Given the description of an element on the screen output the (x, y) to click on. 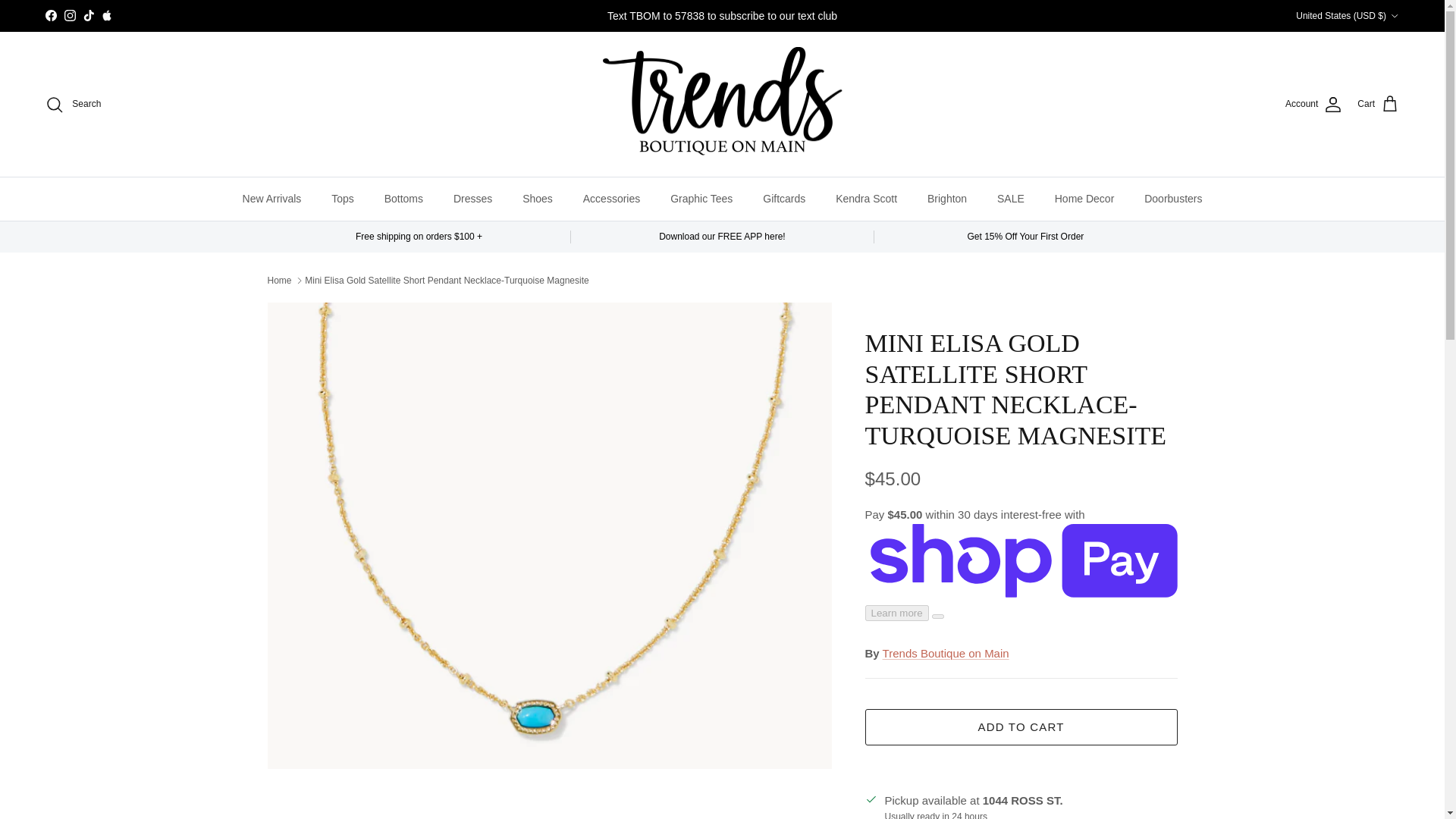
Trends Boutique on Main on Instagram (69, 15)
Trends Boutique on Main (721, 104)
Trends Boutique on Main on TikTok (88, 15)
Facebook (50, 15)
Account (1313, 104)
Cart (1377, 104)
Bottoms (403, 198)
Tops (342, 198)
Search (72, 104)
TikTok (88, 15)
